Given the description of an element on the screen output the (x, y) to click on. 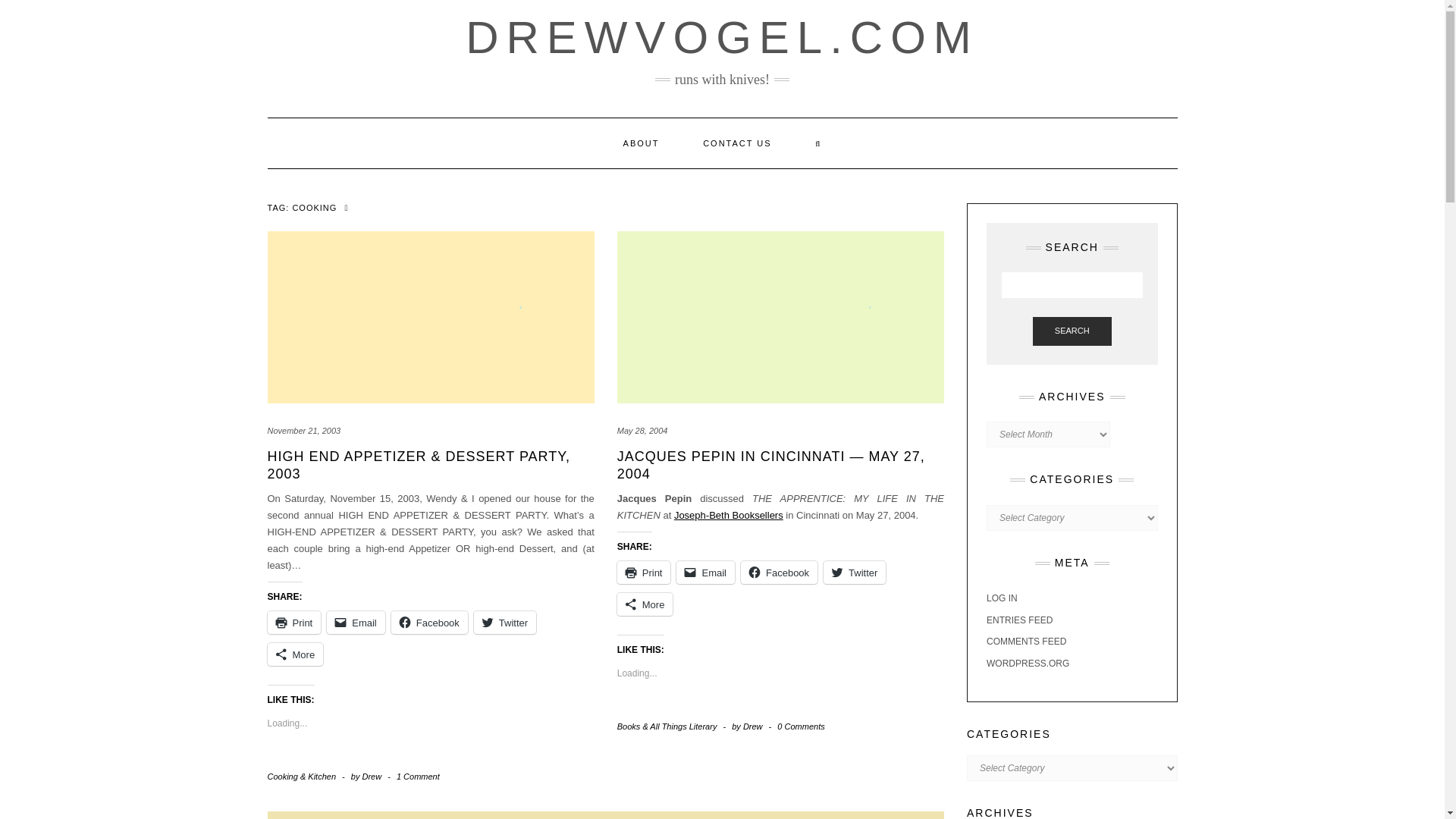
1 Comment (417, 776)
Twitter (504, 621)
Facebook (778, 572)
Click to share on Facebook (778, 572)
Click to share on Twitter (854, 572)
Email (355, 621)
Joseph-Beth Booksellers (728, 514)
Click to email a link to a friend (355, 621)
CONTACT US (737, 142)
Click to share on Twitter (504, 621)
